Given the description of an element on the screen output the (x, y) to click on. 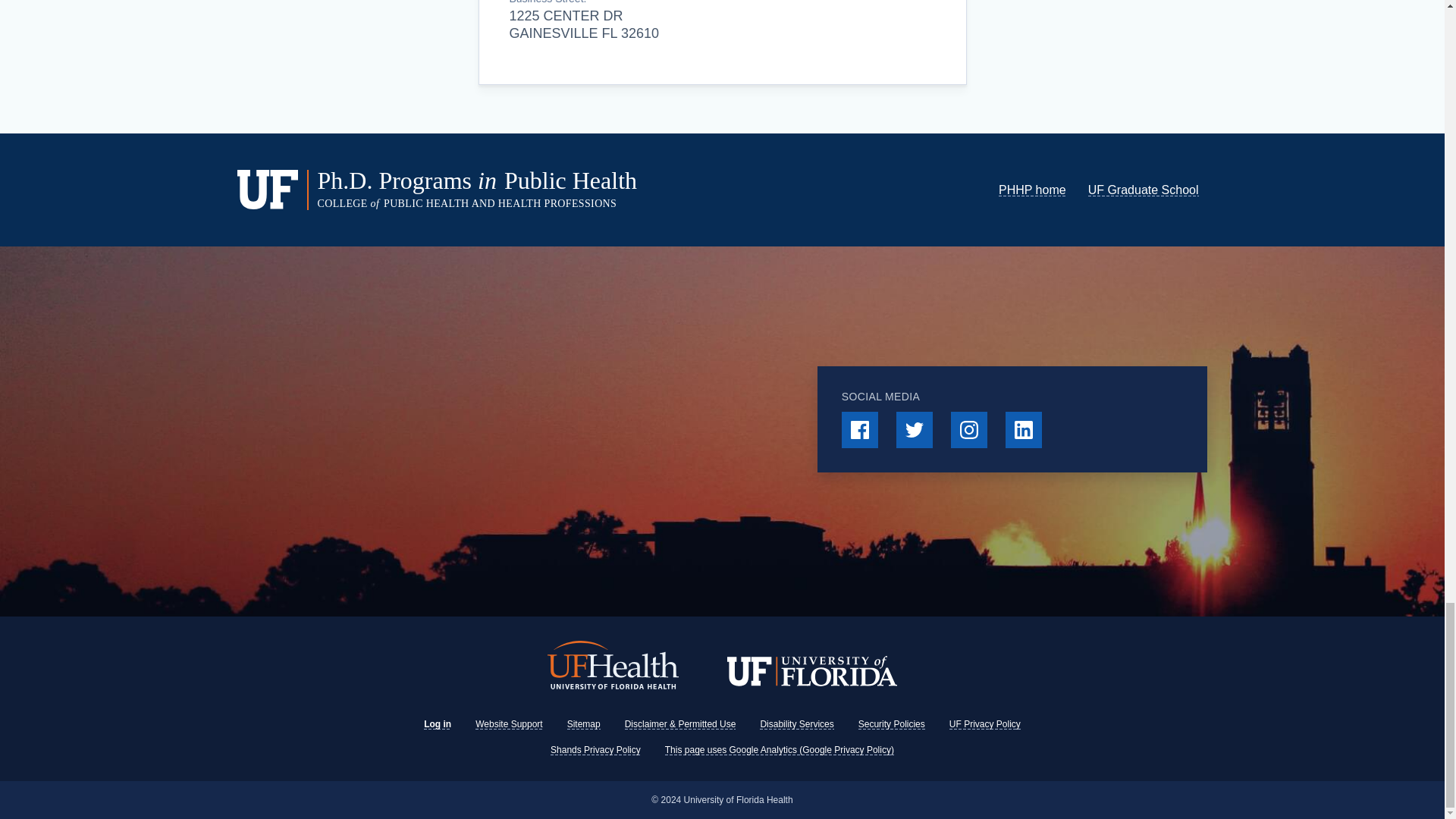
UF Graduate School (1142, 189)
PHHP home (1031, 189)
Google Maps Embed (538, 431)
Security Policies (891, 724)
Website Support (509, 724)
Log in (437, 724)
Sitemap (583, 724)
Shands Privacy Policy (595, 749)
UF Privacy Policy (984, 724)
Disability Services (796, 724)
